Given the description of an element on the screen output the (x, y) to click on. 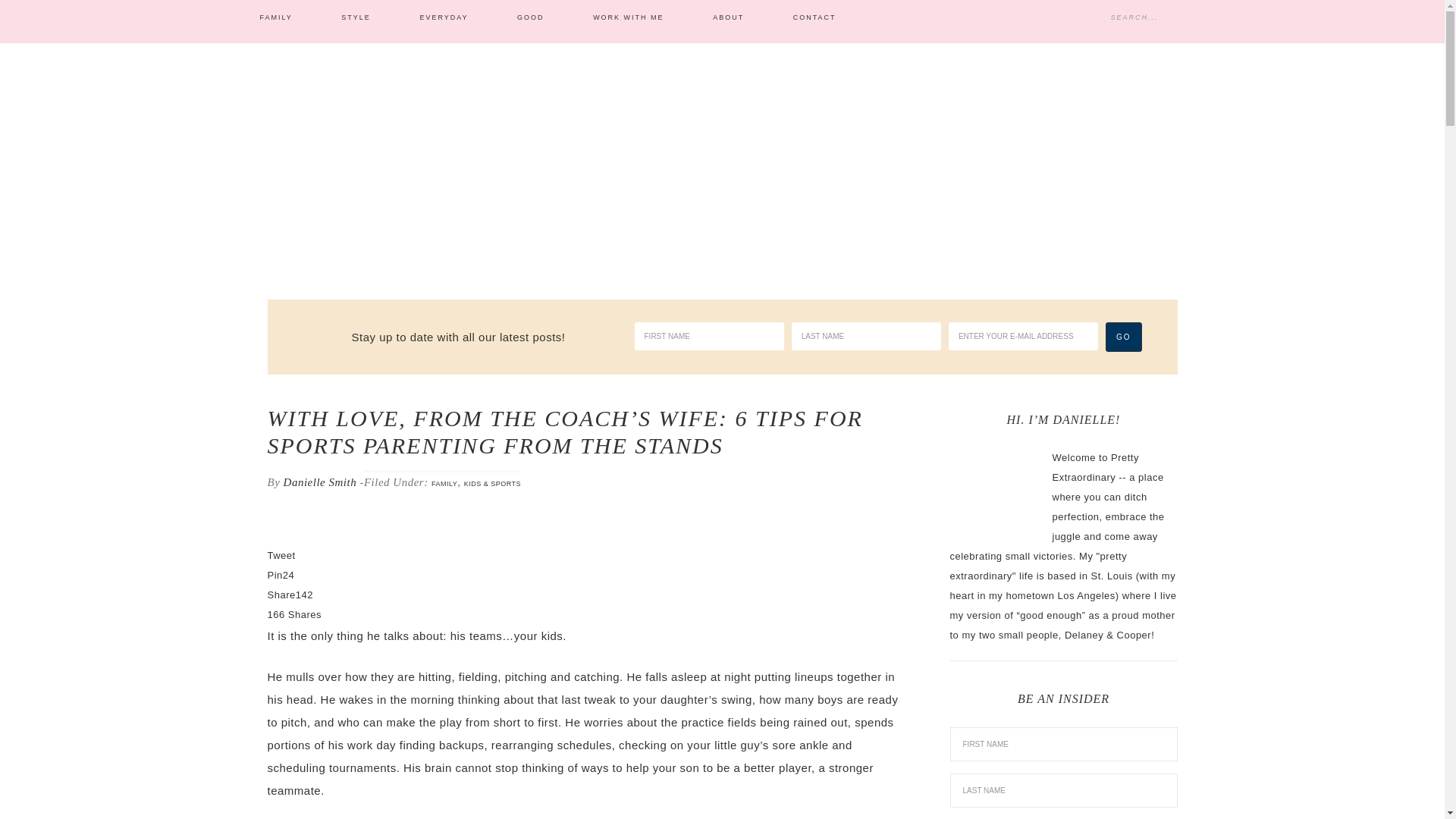
GO (1123, 337)
Tweet (280, 555)
EVERYDAY (443, 18)
Pin24 (280, 574)
Danielle Smith (319, 481)
ABOUT (728, 18)
